Given the description of an element on the screen output the (x, y) to click on. 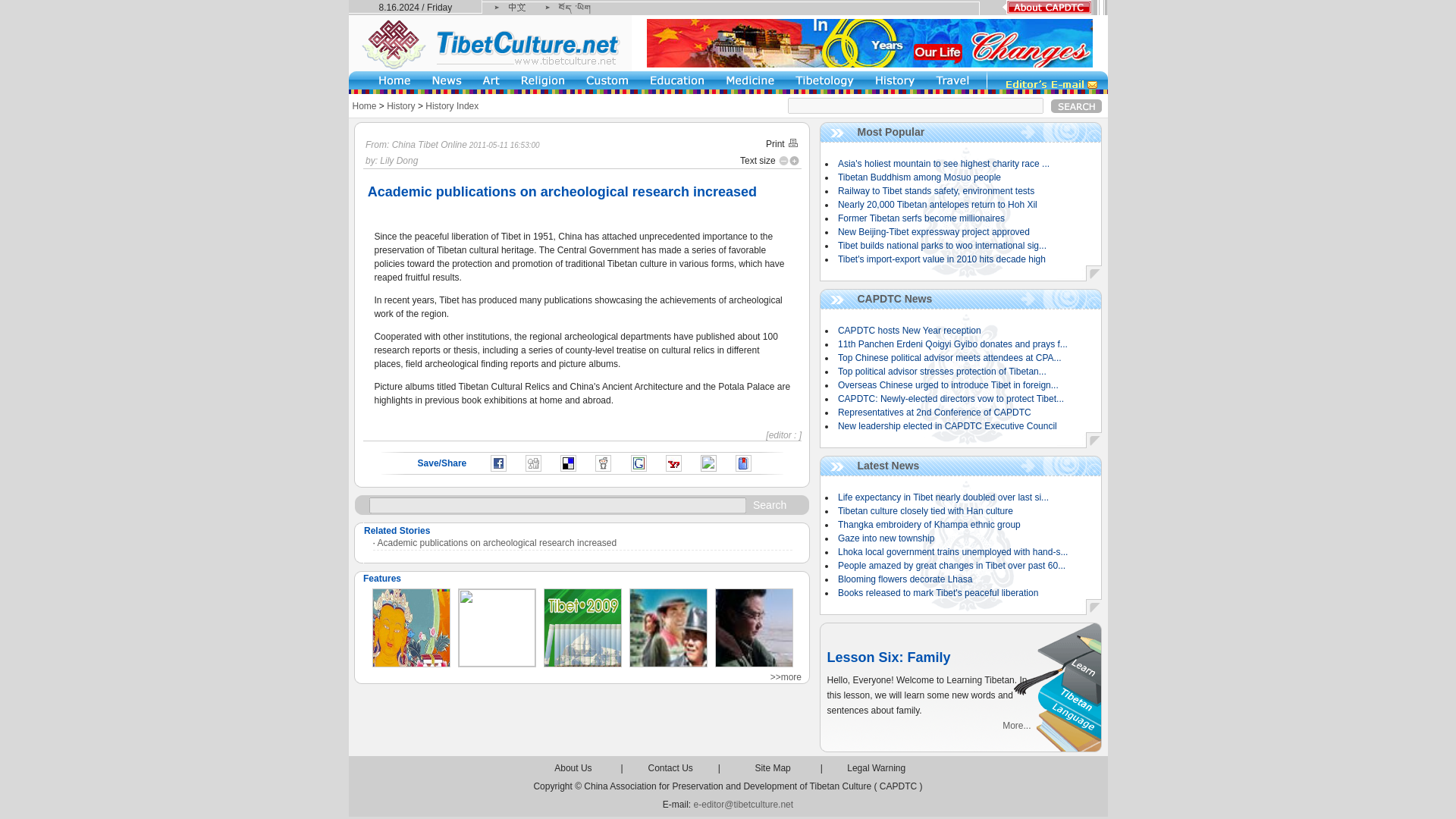
Search (1076, 105)
Search (769, 504)
Home (363, 104)
